Given the description of an element on the screen output the (x, y) to click on. 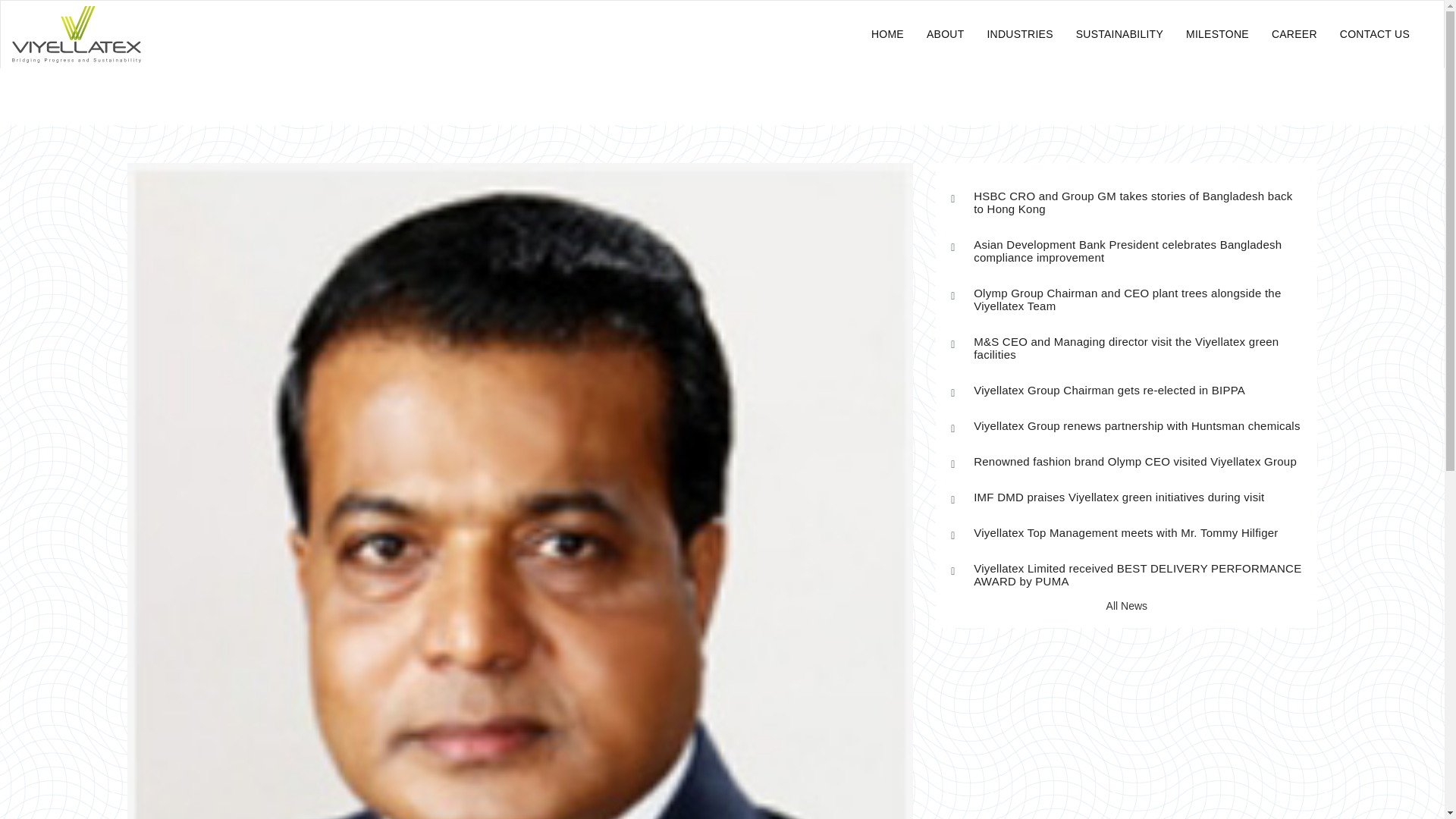
ABOUT (945, 34)
MILESTONE (1217, 34)
HOME (887, 34)
INDUSTRIES (1019, 34)
All News (1125, 605)
Viyellatex Top Management meets with Mr. Tommy Hilfiger (1137, 532)
